Given the description of an element on the screen output the (x, y) to click on. 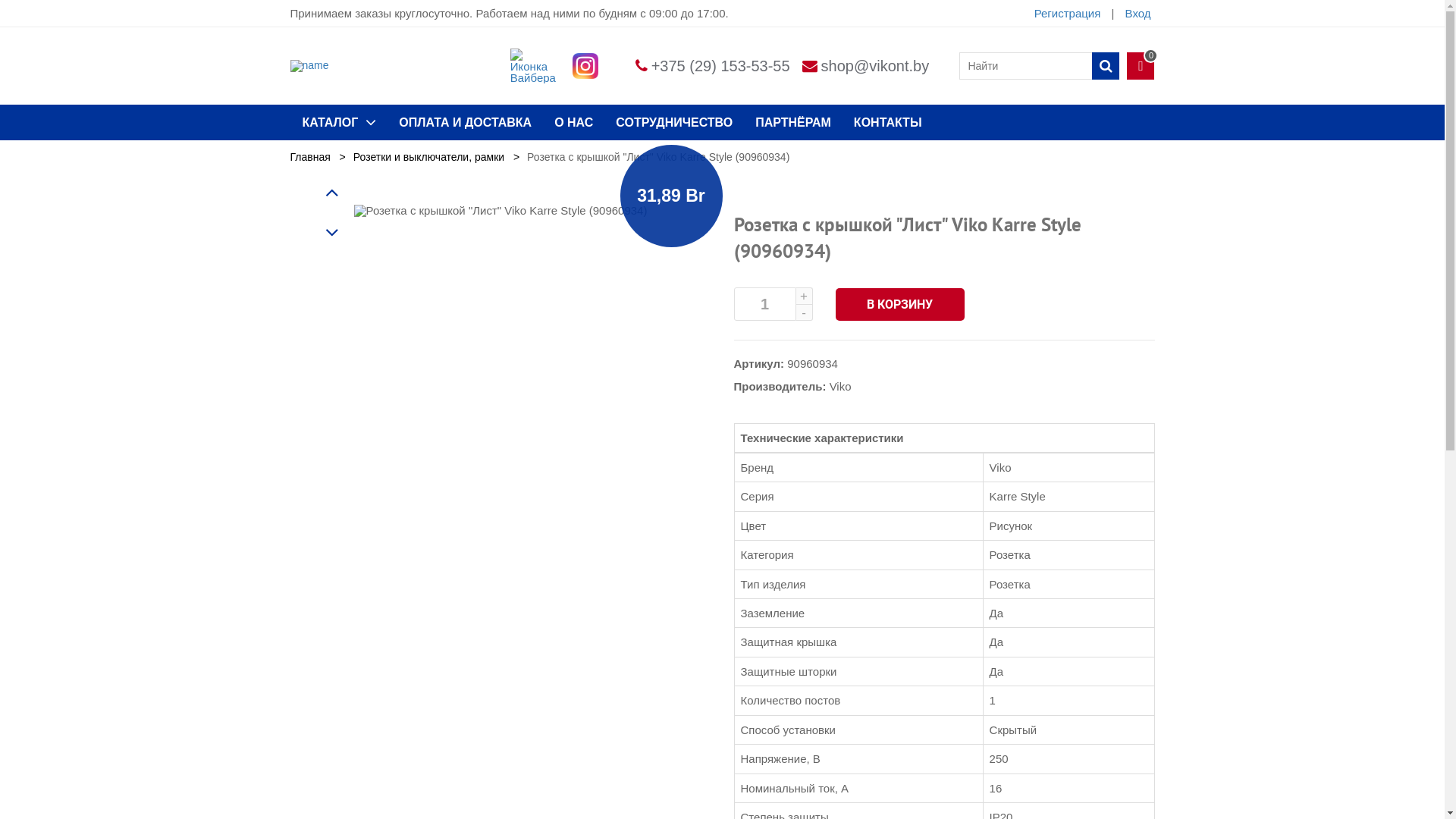
+375 (29) 153-53-55 Element type: text (720, 65)
Viko Element type: text (840, 385)
shop@vikont.by Element type: text (875, 65)
- Element type: text (804, 312)
+ Element type: text (804, 295)
vikont.by Element type: hover (308, 65)
0 Element type: text (1140, 65)
